Given the description of an element on the screen output the (x, y) to click on. 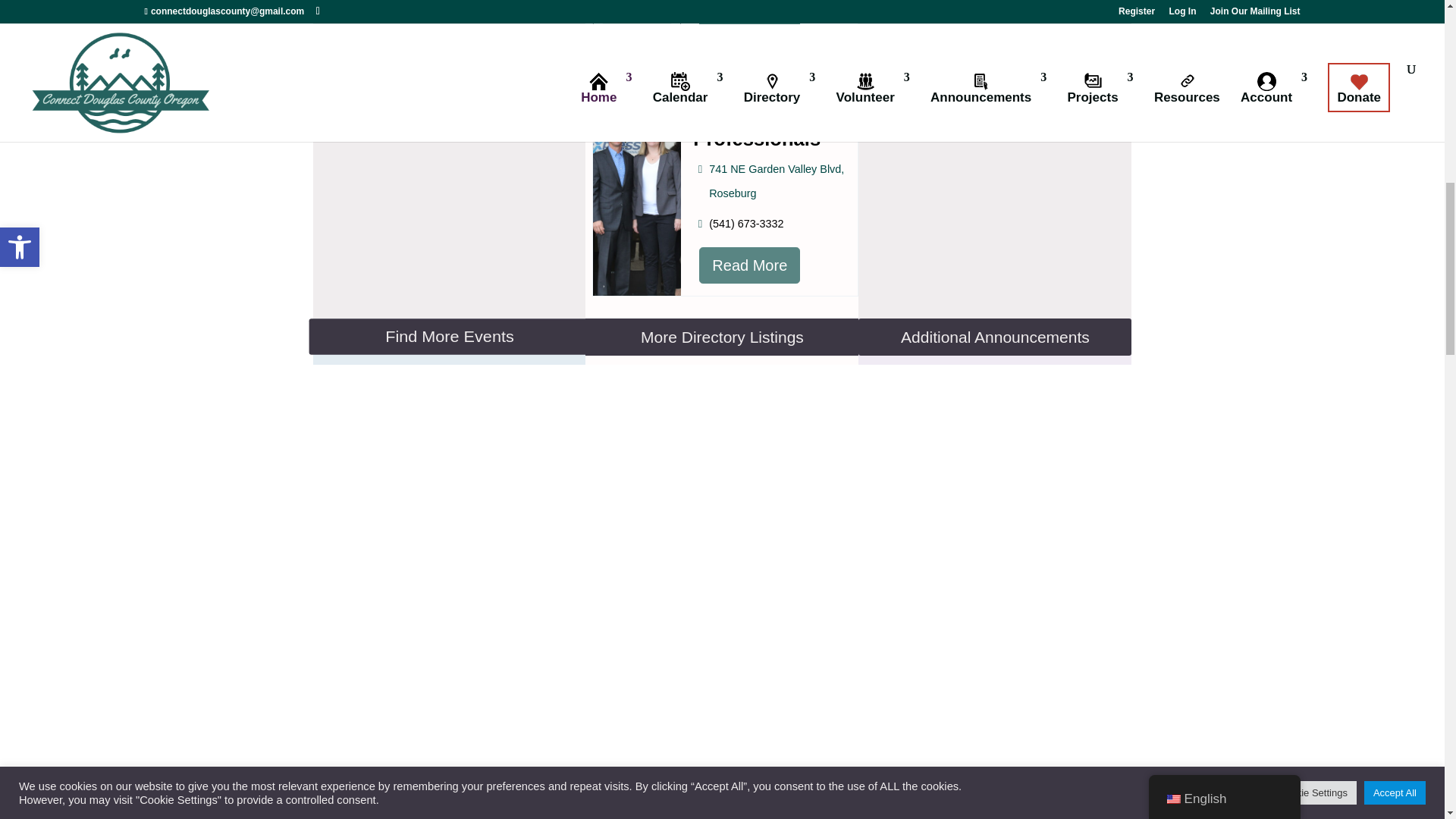
Bookmark (603, 280)
Bookmark (603, 46)
